Given the description of an element on the screen output the (x, y) to click on. 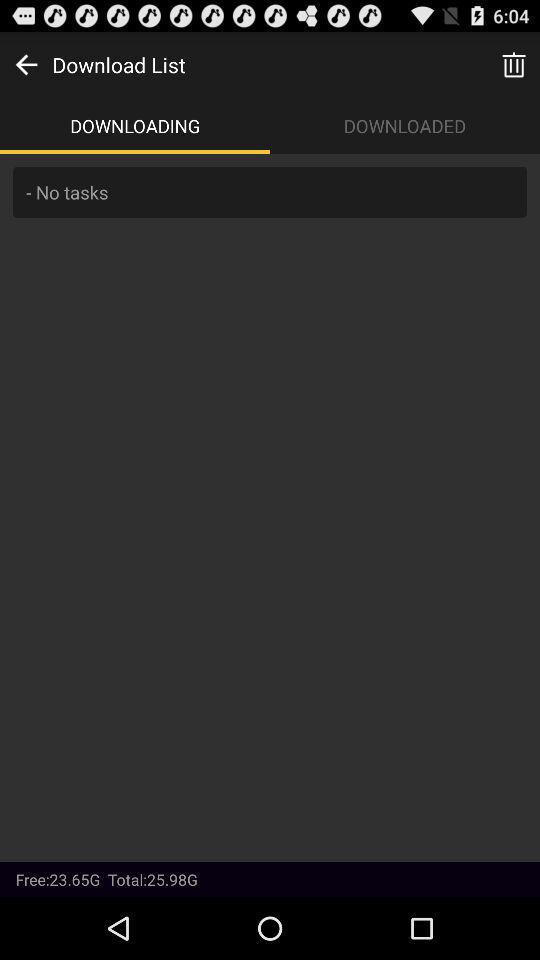
go back (26, 64)
